Given the description of an element on the screen output the (x, y) to click on. 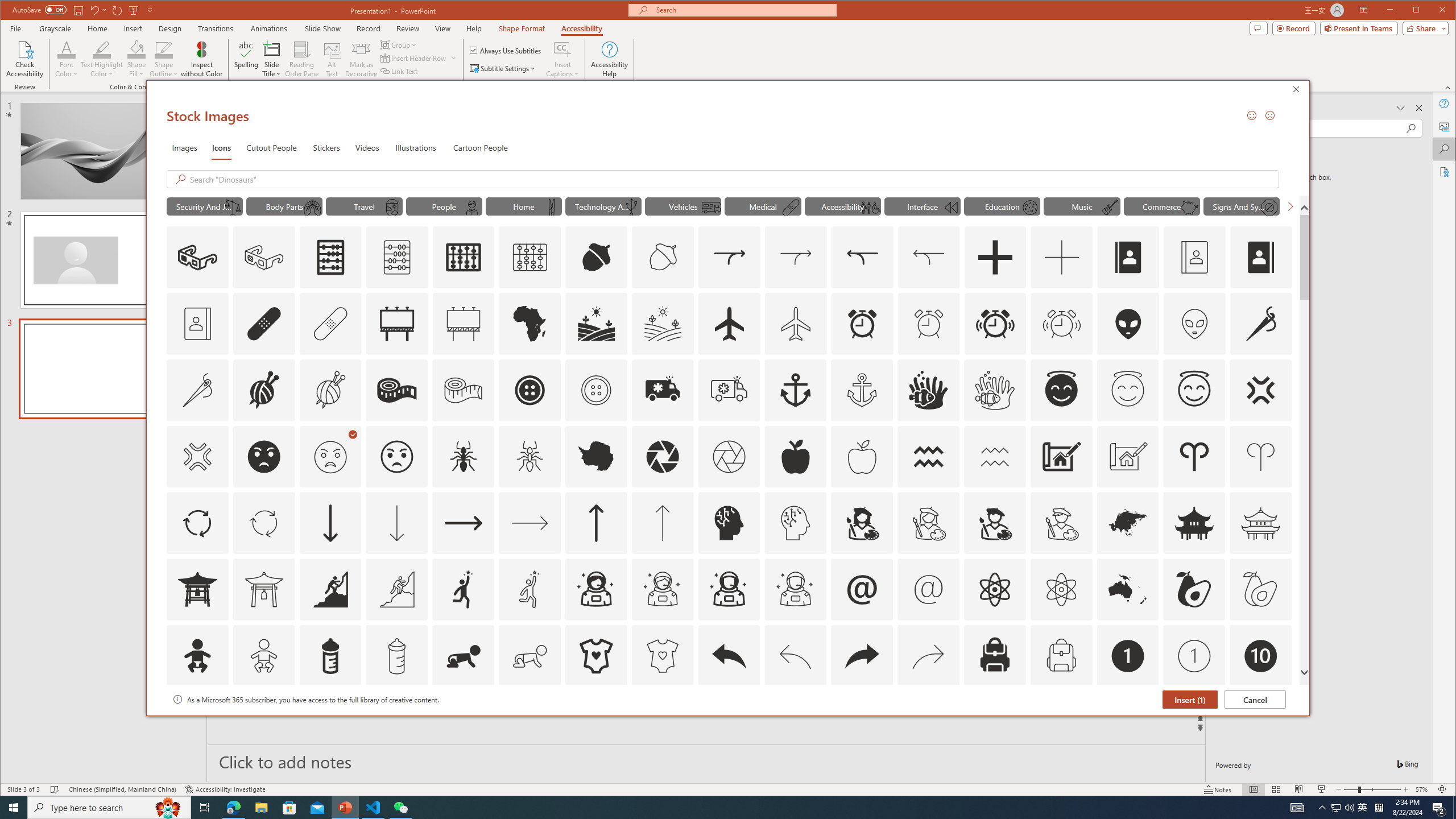
AutomationID: Icons_BabyOnesie_M (662, 655)
Maximize (1432, 11)
AutomationID: Icons_AlterationsTailoring3_M (595, 389)
AutomationID: Icons_Agriculture_M (663, 323)
